Given the description of an element on the screen output the (x, y) to click on. 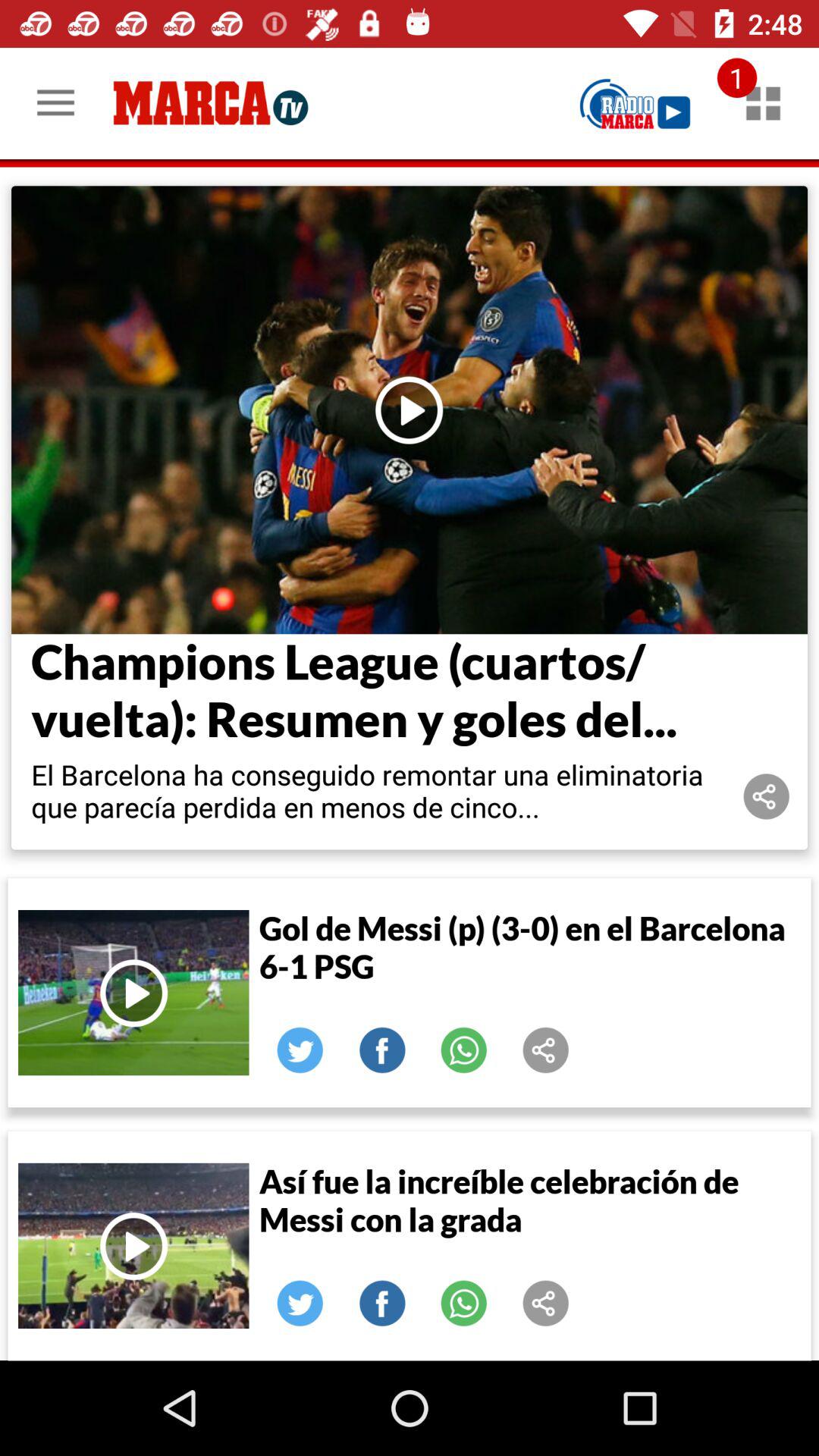
button to retweet the news (300, 1050)
